Given the description of an element on the screen output the (x, y) to click on. 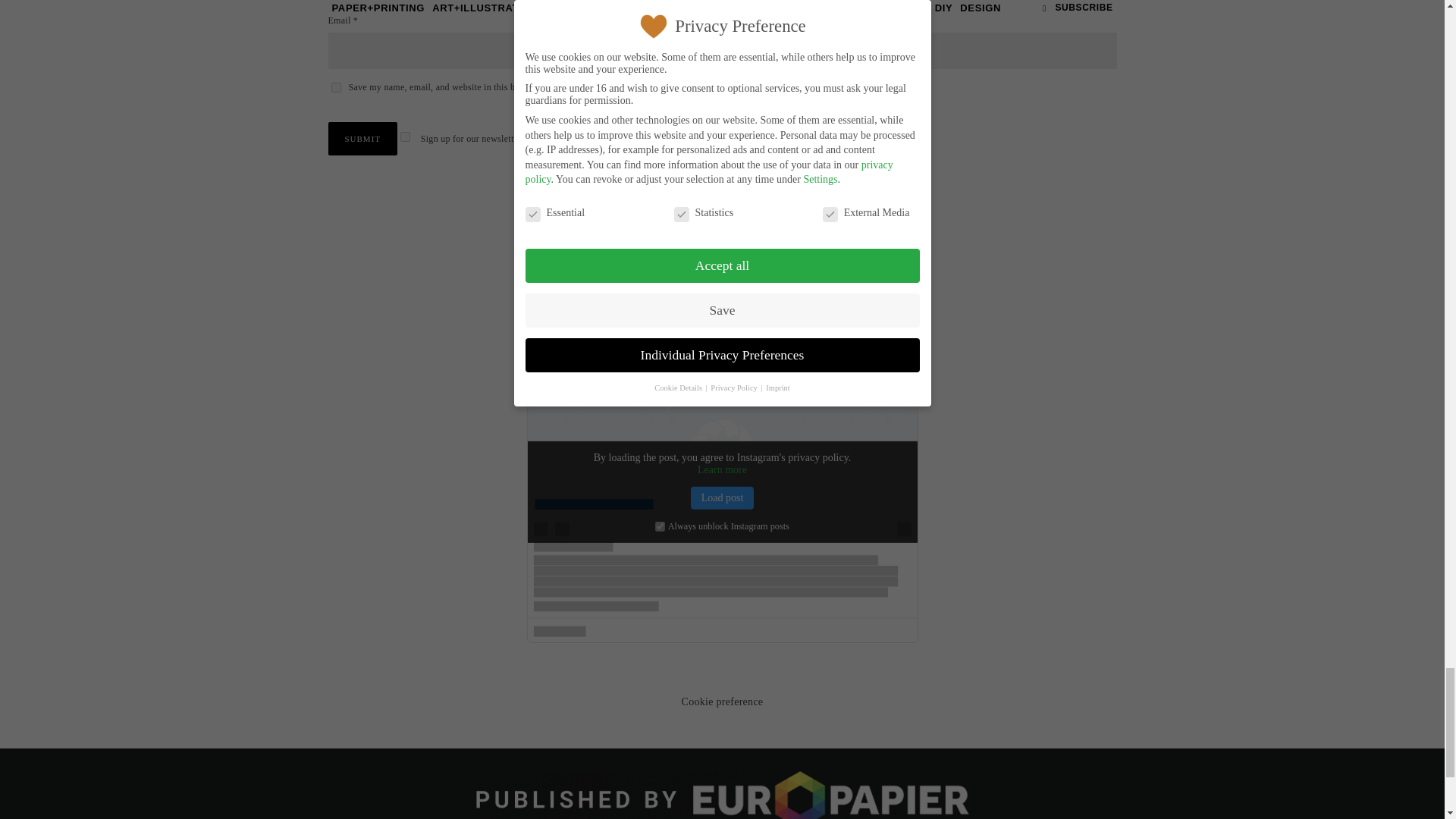
Submit (362, 138)
1 (405, 136)
yes (335, 87)
1 (660, 526)
